Given the description of an element on the screen output the (x, y) to click on. 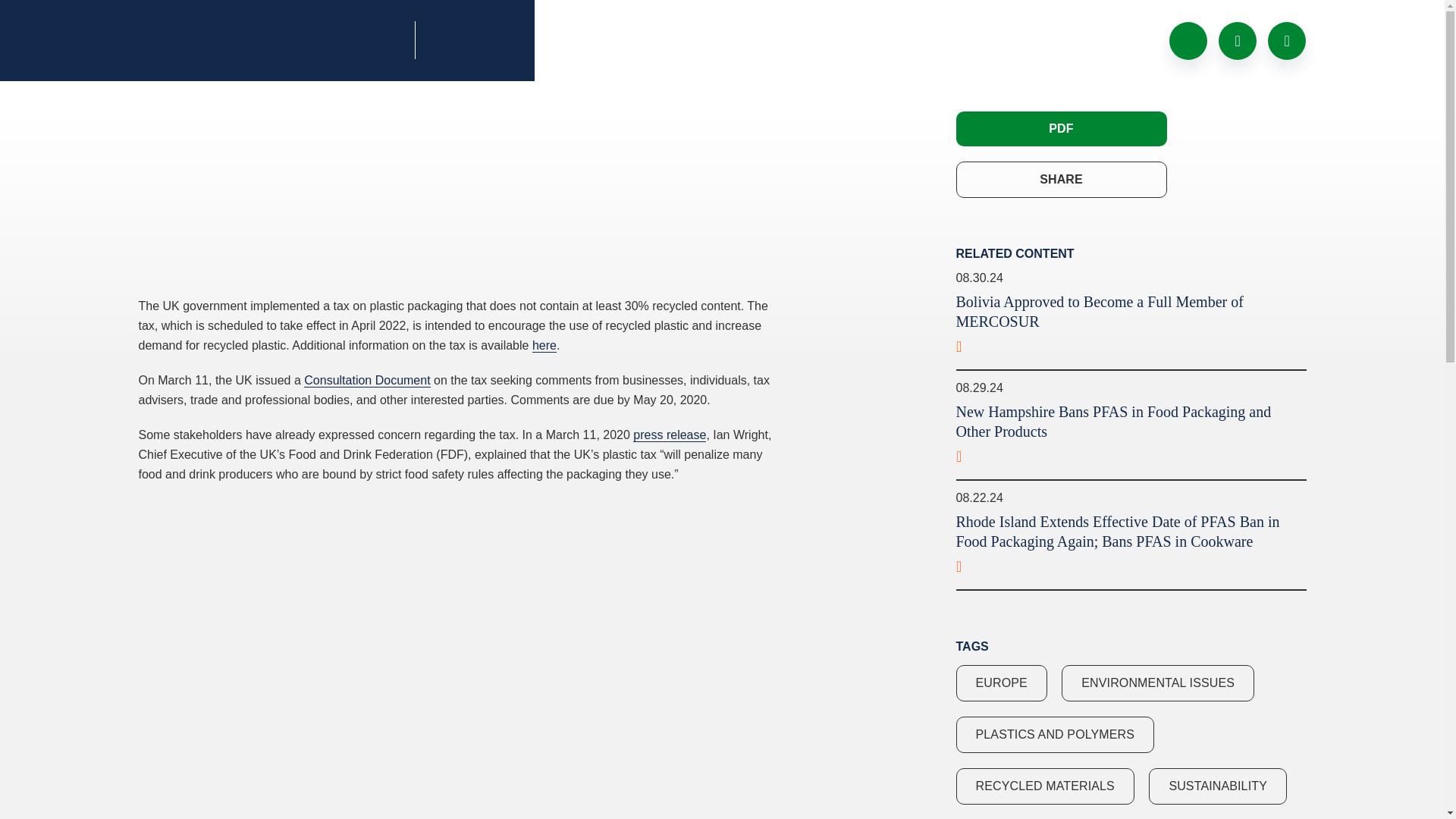
SUSTAINABILITY (1217, 786)
Consultation Document (366, 379)
Podcast (1188, 39)
Bolivia Approved to Become a Full Member of MERCOSUR (1130, 327)
SHARE (1060, 179)
press release (669, 434)
Search (1237, 39)
ENVIRONMENTAL ISSUES (1157, 683)
